Given the description of an element on the screen output the (x, y) to click on. 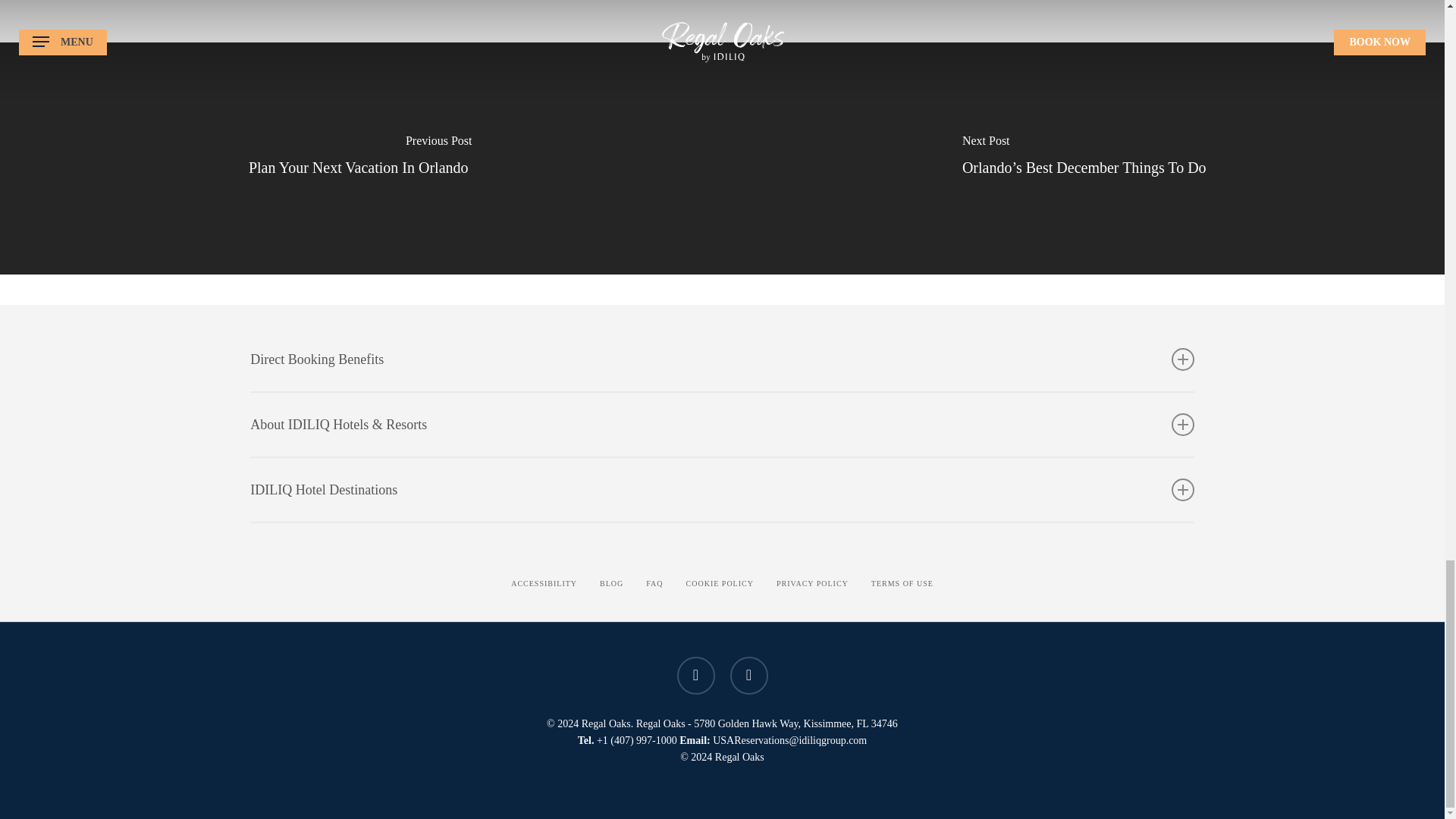
PRIVACY POLICY (812, 583)
TERMS OF USE (901, 583)
Direct Booking Benefits (721, 359)
IDILIQ Hotel Destinations (721, 489)
instagram (748, 675)
facebook (695, 675)
ACCESSIBILITY (543, 583)
COOKIE POLICY (719, 583)
FAQ (654, 583)
BLOG (611, 583)
